Given the description of an element on the screen output the (x, y) to click on. 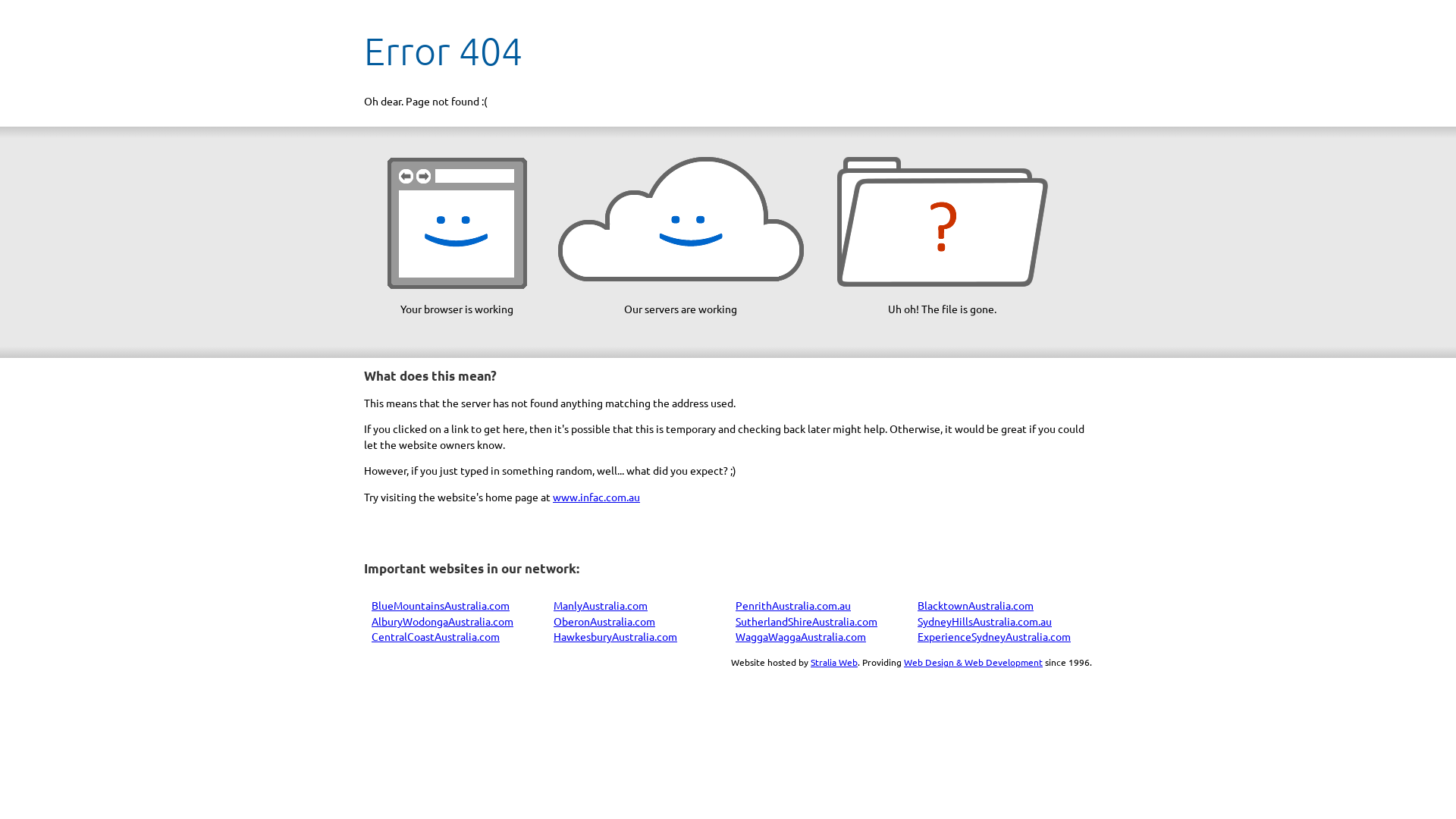
WaggaWaggaAustralia.com Element type: text (800, 636)
CentralCoastAustralia.com Element type: text (435, 636)
Web Design & Web Development Element type: text (972, 661)
BlacktownAustralia.com Element type: text (975, 604)
ManlyAustralia.com Element type: text (600, 604)
SutherlandShireAustralia.com Element type: text (806, 620)
BlueMountainsAustralia.com Element type: text (440, 604)
OberonAustralia.com Element type: text (604, 620)
AlburyWodongaAustralia.com Element type: text (442, 620)
SydneyHillsAustralia.com.au Element type: text (984, 620)
PenrithAustralia.com.au Element type: text (792, 604)
ExperienceSydneyAustralia.com Element type: text (993, 636)
Stralia Web Element type: text (833, 661)
HawkesburyAustralia.com Element type: text (615, 636)
www.infac.com.au Element type: text (596, 496)
